Given the description of an element on the screen output the (x, y) to click on. 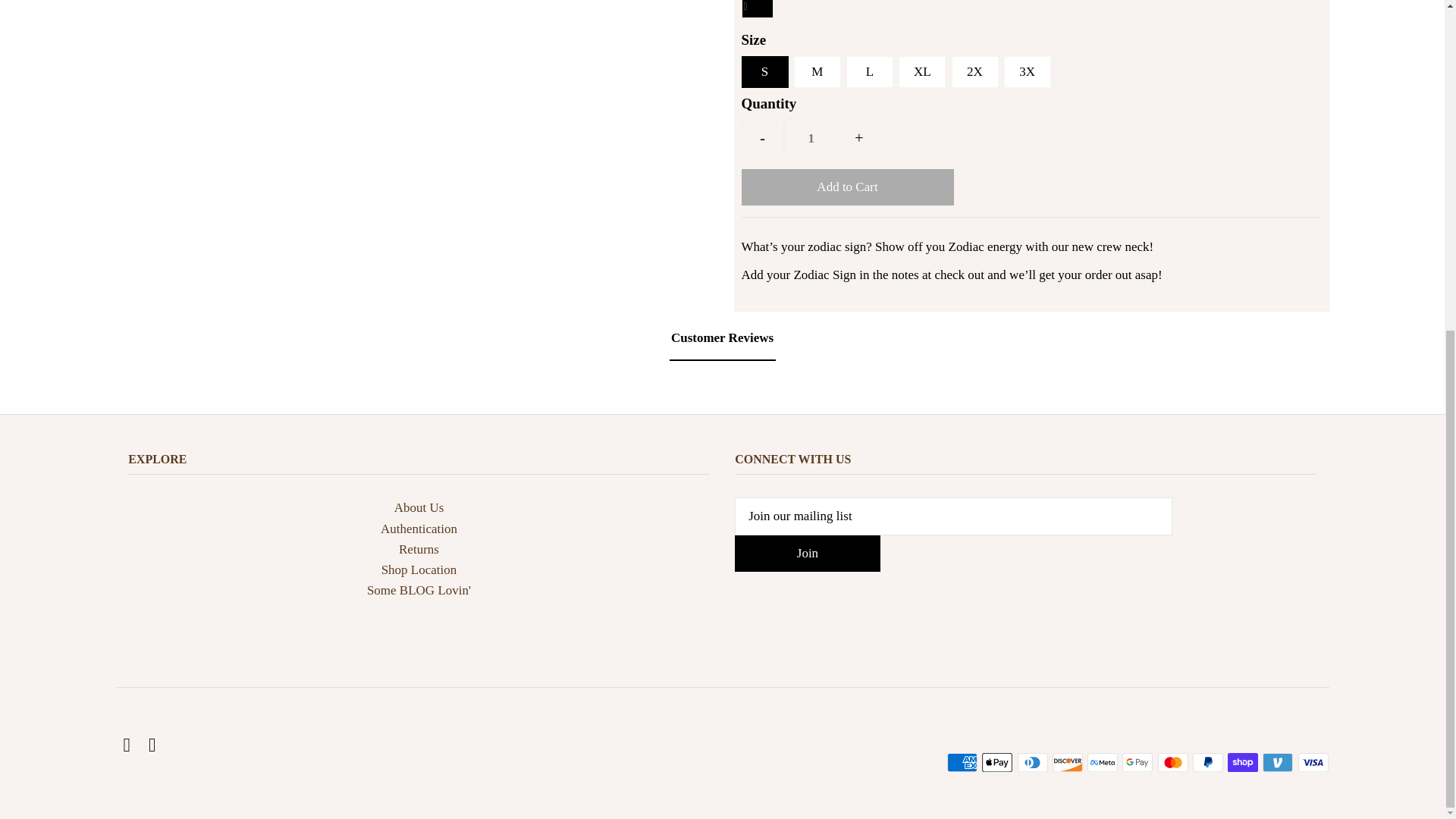
Meta Pay (1102, 762)
American Express (961, 762)
Google Pay (1137, 762)
Apple Pay (996, 762)
Shop Pay (1242, 762)
1 (811, 138)
Visa (1312, 762)
Mastercard (1172, 762)
Diners Club (1032, 762)
PayPal (1207, 762)
Add to Cart (847, 186)
Discover (1067, 762)
Join (807, 553)
Venmo (1277, 762)
